Given the description of an element on the screen output the (x, y) to click on. 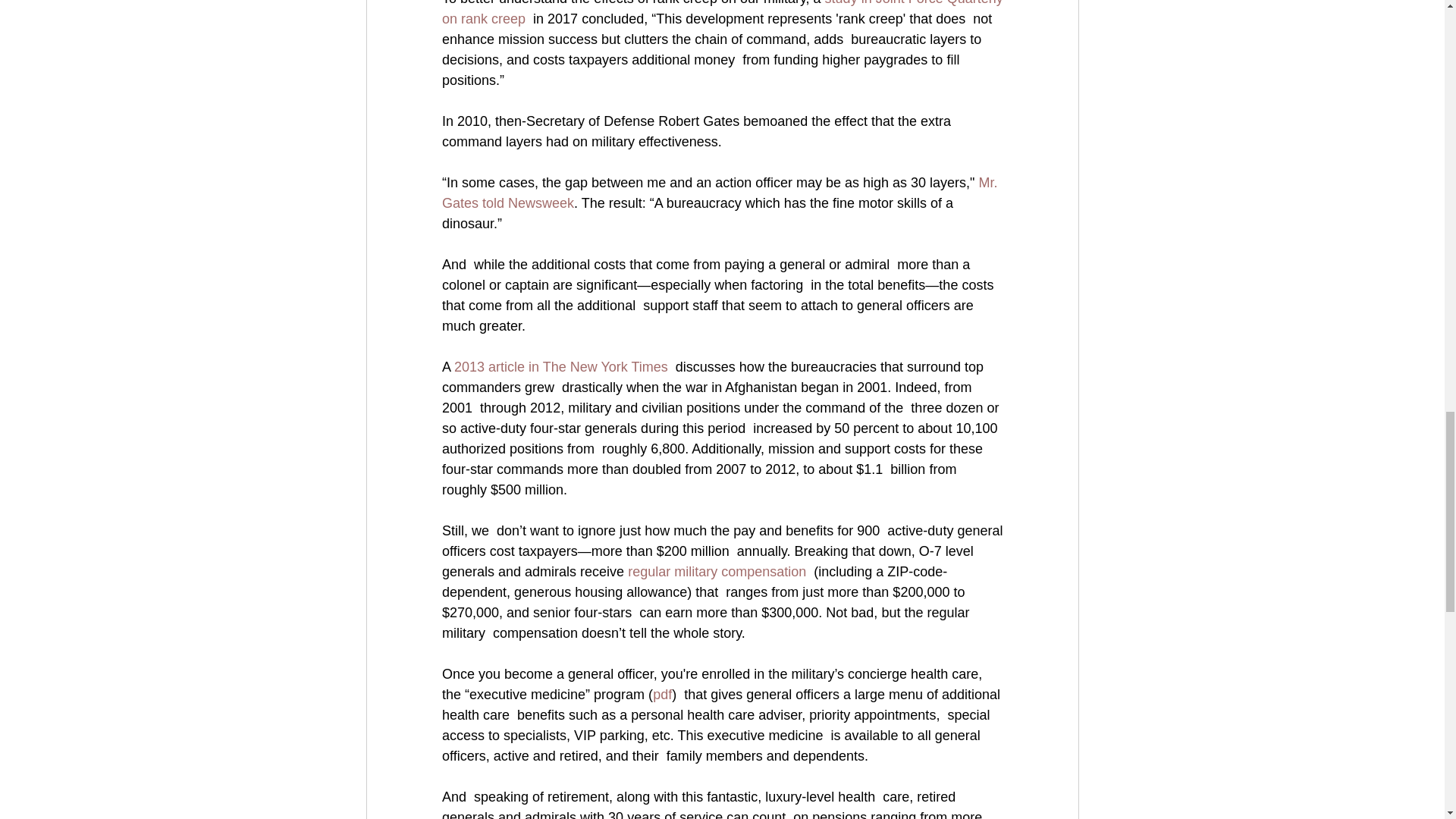
study in Joint Force Quarterly on rank creep (723, 13)
 Mr. Gates told Newsweek (720, 192)
pdf (661, 694)
regular military compensation (716, 571)
2013 article in The New York Times (561, 366)
